Given the description of an element on the screen output the (x, y) to click on. 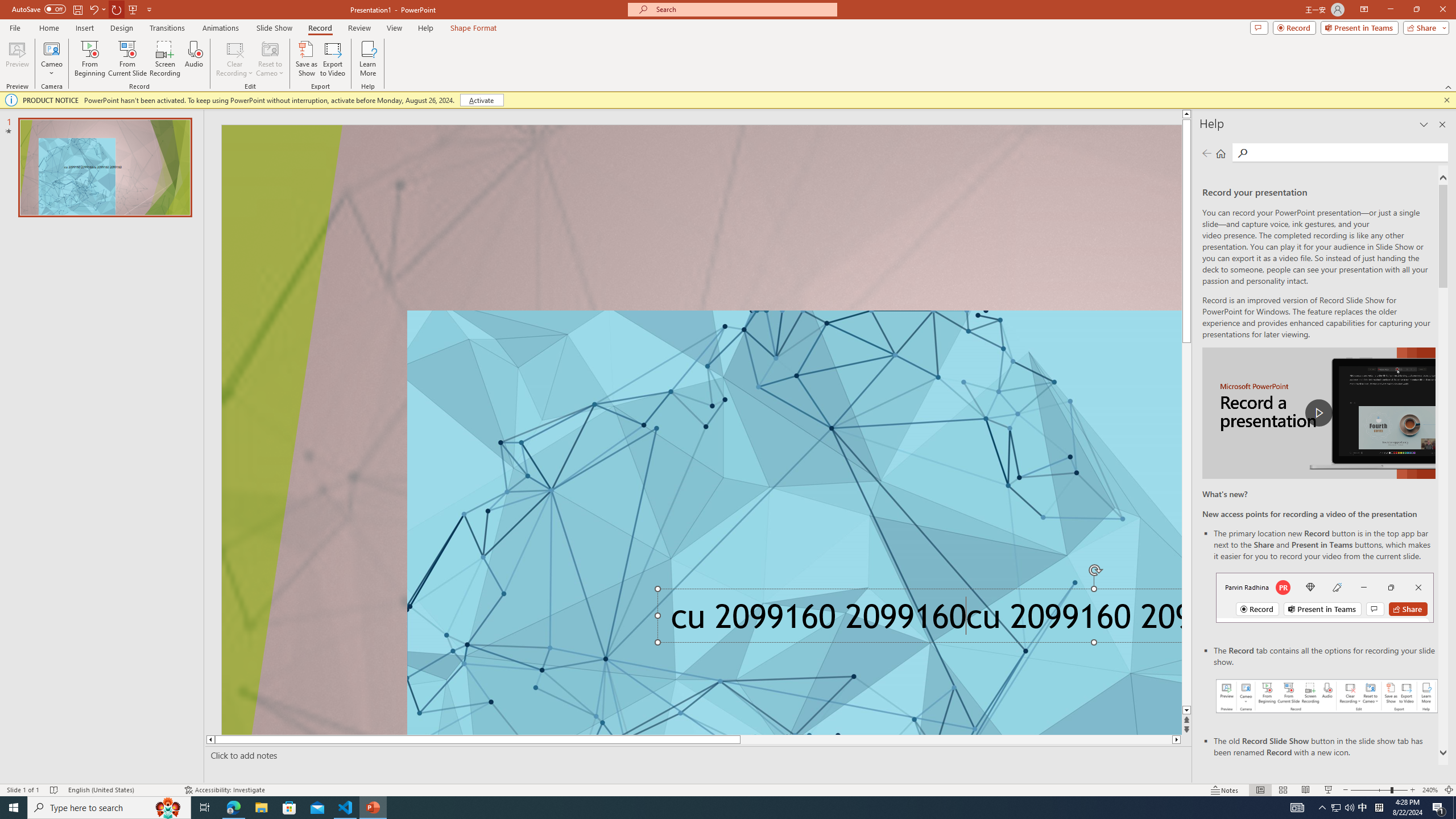
play Record a Presentation (1318, 412)
